Given the description of an element on the screen output the (x, y) to click on. 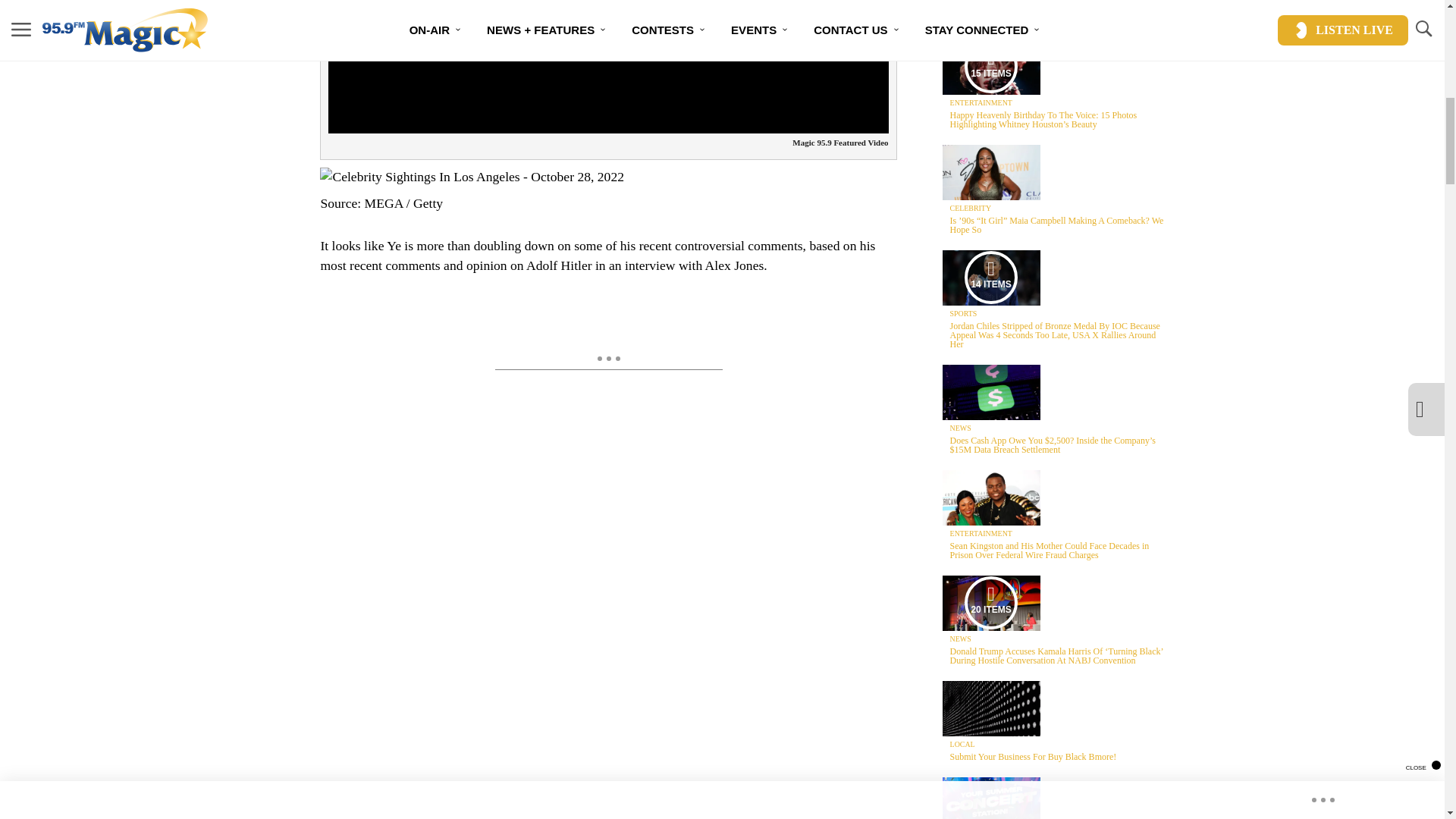
Media Playlist (990, 602)
Media Playlist (990, 66)
Media Playlist (990, 276)
